Given the description of an element on the screen output the (x, y) to click on. 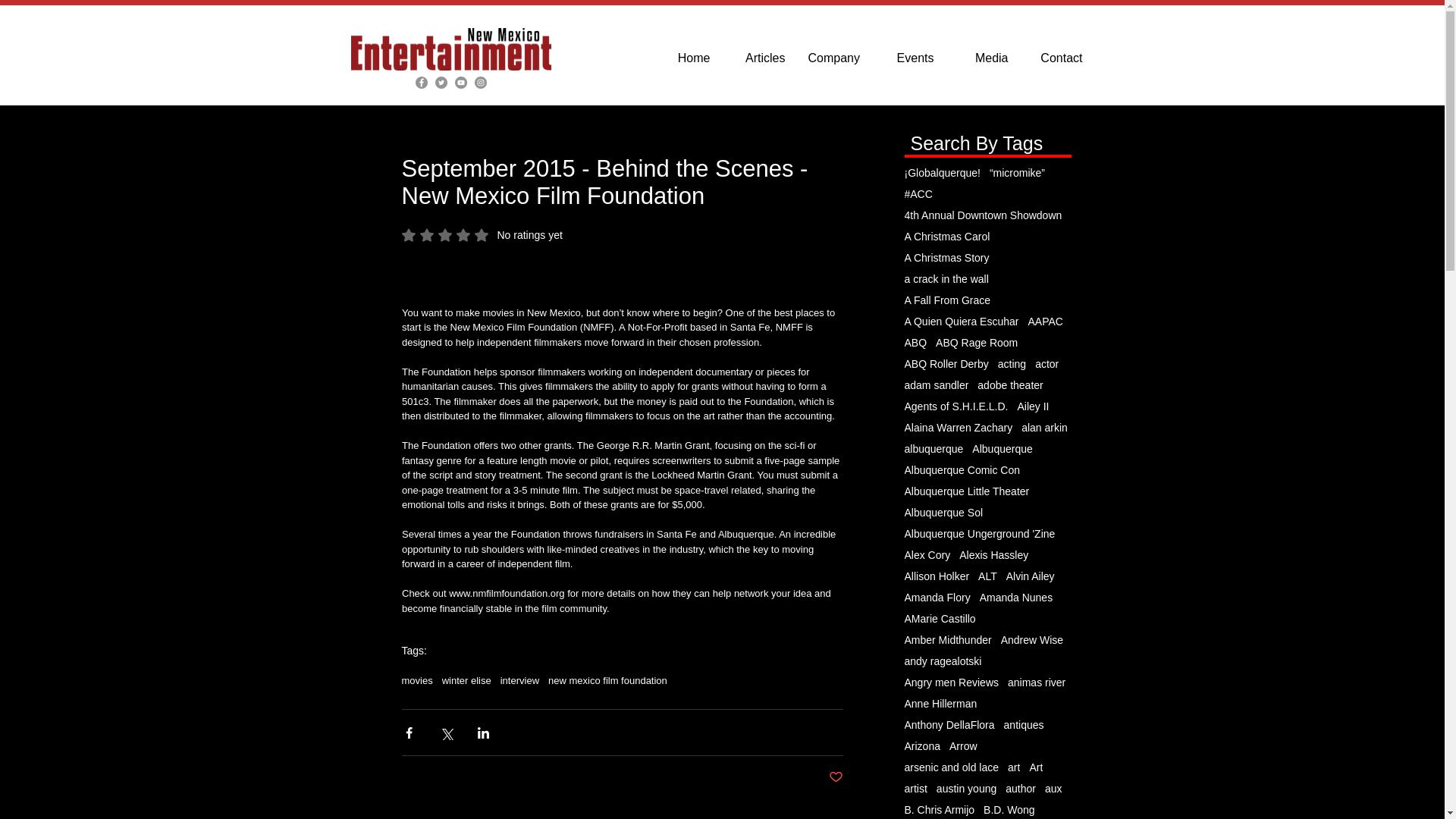
Media (981, 57)
new mexico film foundation (607, 680)
interview (519, 680)
winter elise (481, 234)
4th Annual Downtown Showdown (467, 680)
Post not marked as liked (982, 215)
Home (835, 777)
Events (683, 57)
movies (907, 57)
Articles (416, 680)
Contact (759, 57)
